Given the description of an element on the screen output the (x, y) to click on. 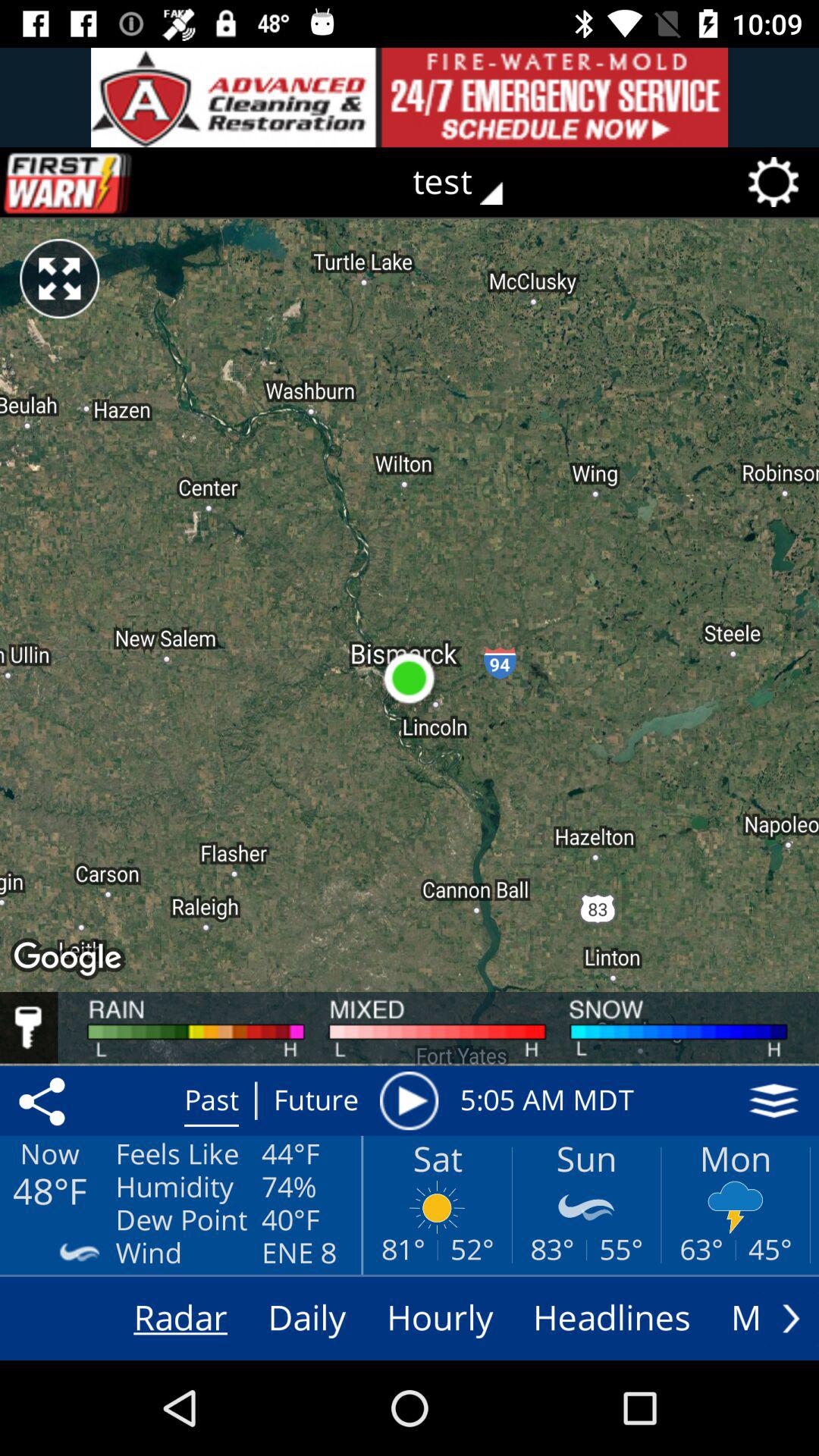
scroll through menus (791, 1318)
